Given the description of an element on the screen output the (x, y) to click on. 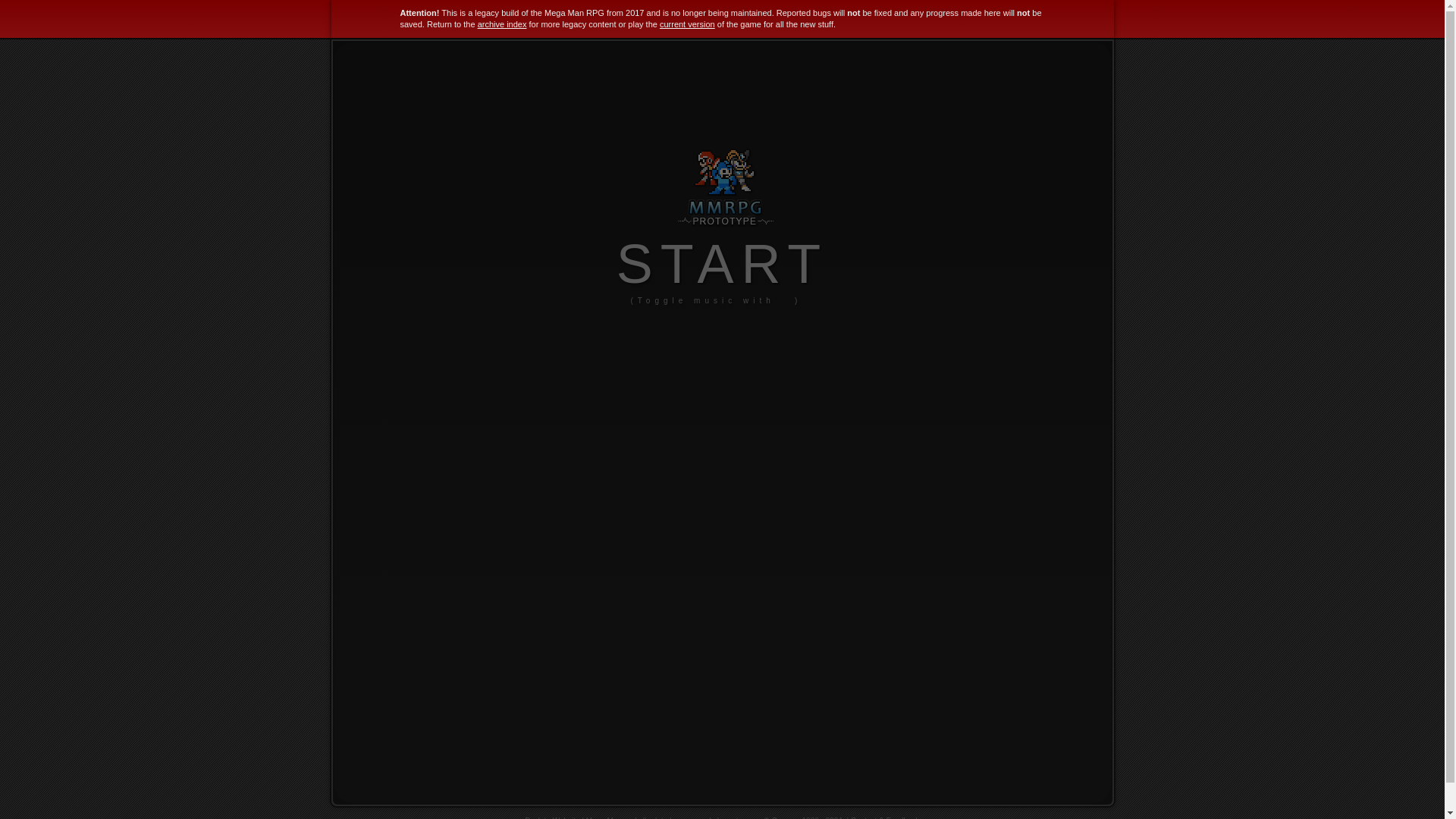
Capcom (785, 817)
archive index (502, 23)
current version (686, 23)
